Given the description of an element on the screen output the (x, y) to click on. 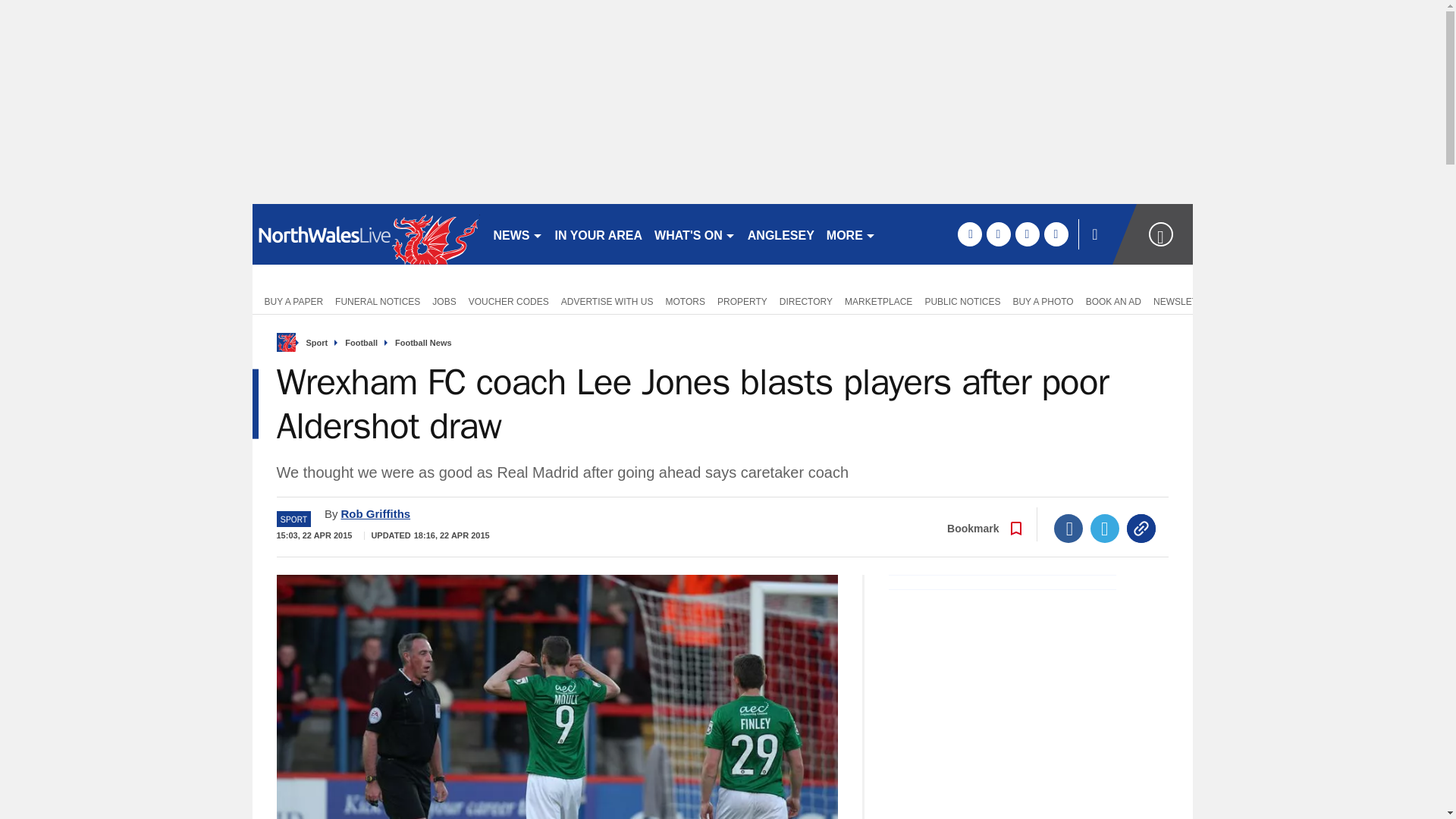
Twitter (1104, 528)
pinterest (1026, 233)
PROPERTY (742, 300)
ANGLESEY (781, 233)
BUY A PAPER (290, 300)
facebook (968, 233)
JOBS (443, 300)
northwales (365, 233)
IN YOUR AREA (598, 233)
instagram (1055, 233)
FUNERAL NOTICES (377, 300)
MOTORS (685, 300)
NEWS (517, 233)
twitter (997, 233)
Facebook (1068, 528)
